Given the description of an element on the screen output the (x, y) to click on. 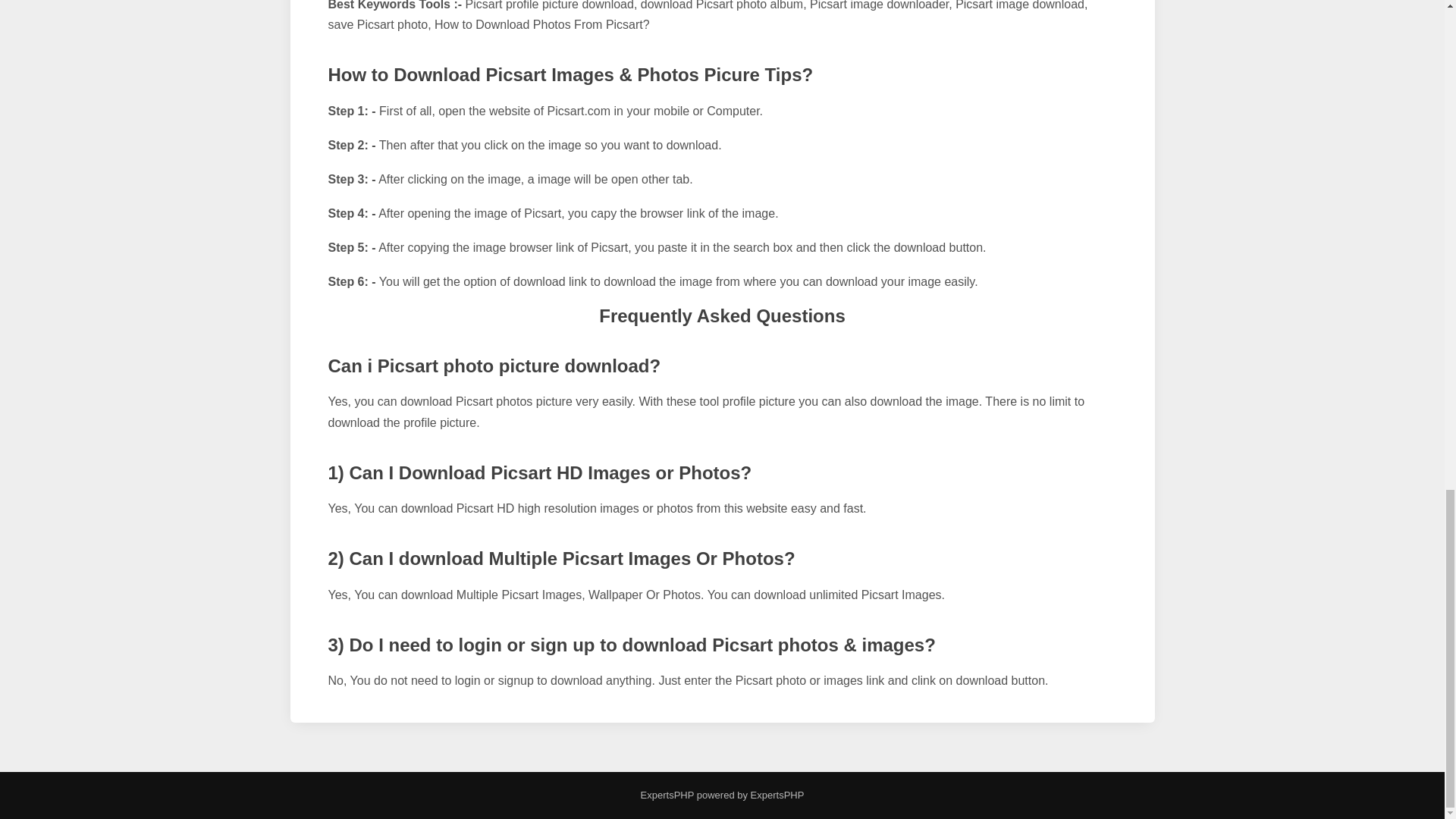
ExpertsPHP (667, 794)
ExpertsPHP (775, 794)
